Given the description of an element on the screen output the (x, y) to click on. 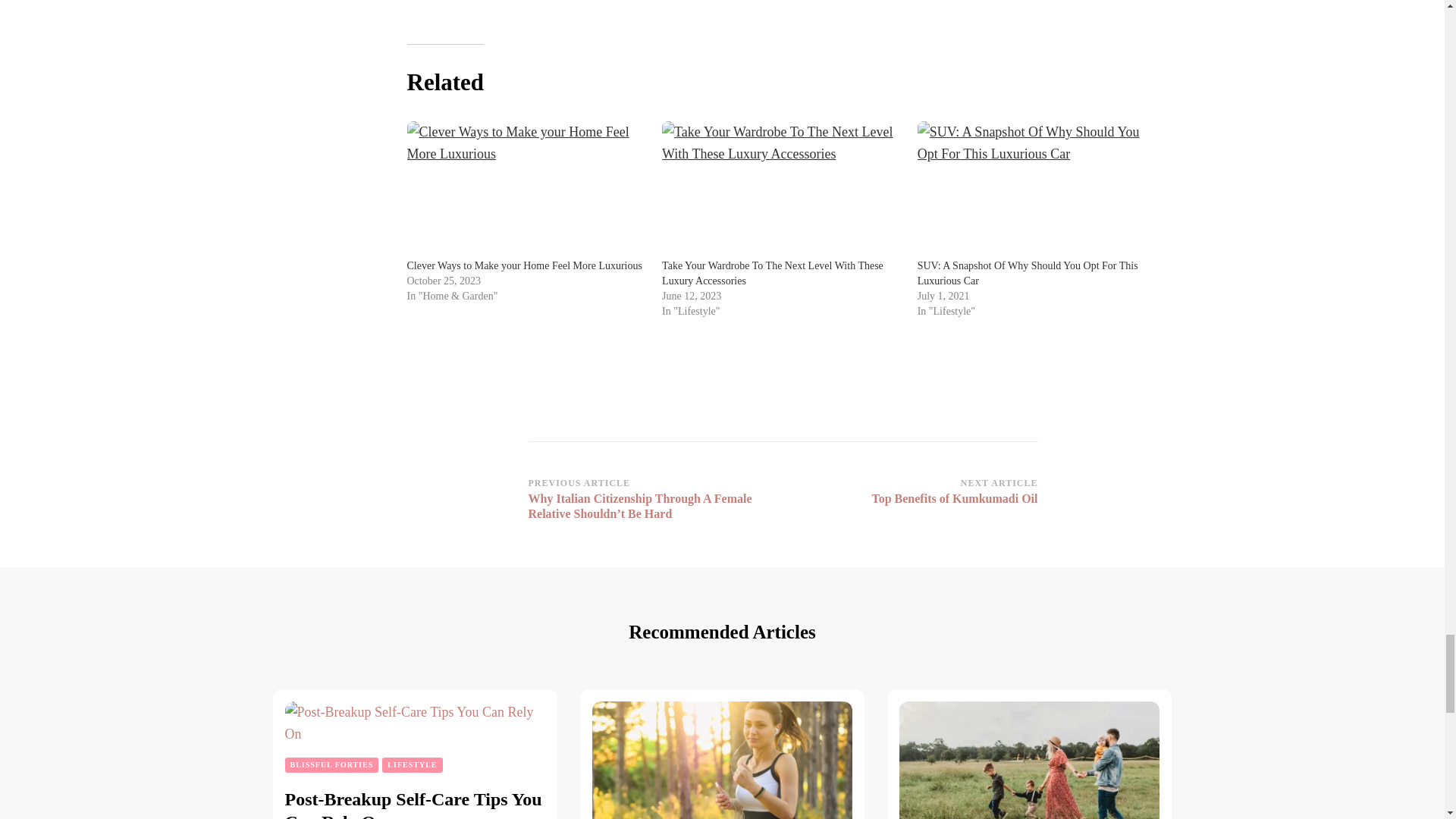
Clever Ways to Make your Home Feel More Luxurious (526, 189)
SUV: A Snapshot Of Why Should You Opt For This Luxurious Car (1037, 189)
Clever Ways to Make your Home Feel More Luxurious (524, 265)
SUV: A Snapshot Of Why Should You Opt For This Luxurious Car (1027, 273)
